Given the description of an element on the screen output the (x, y) to click on. 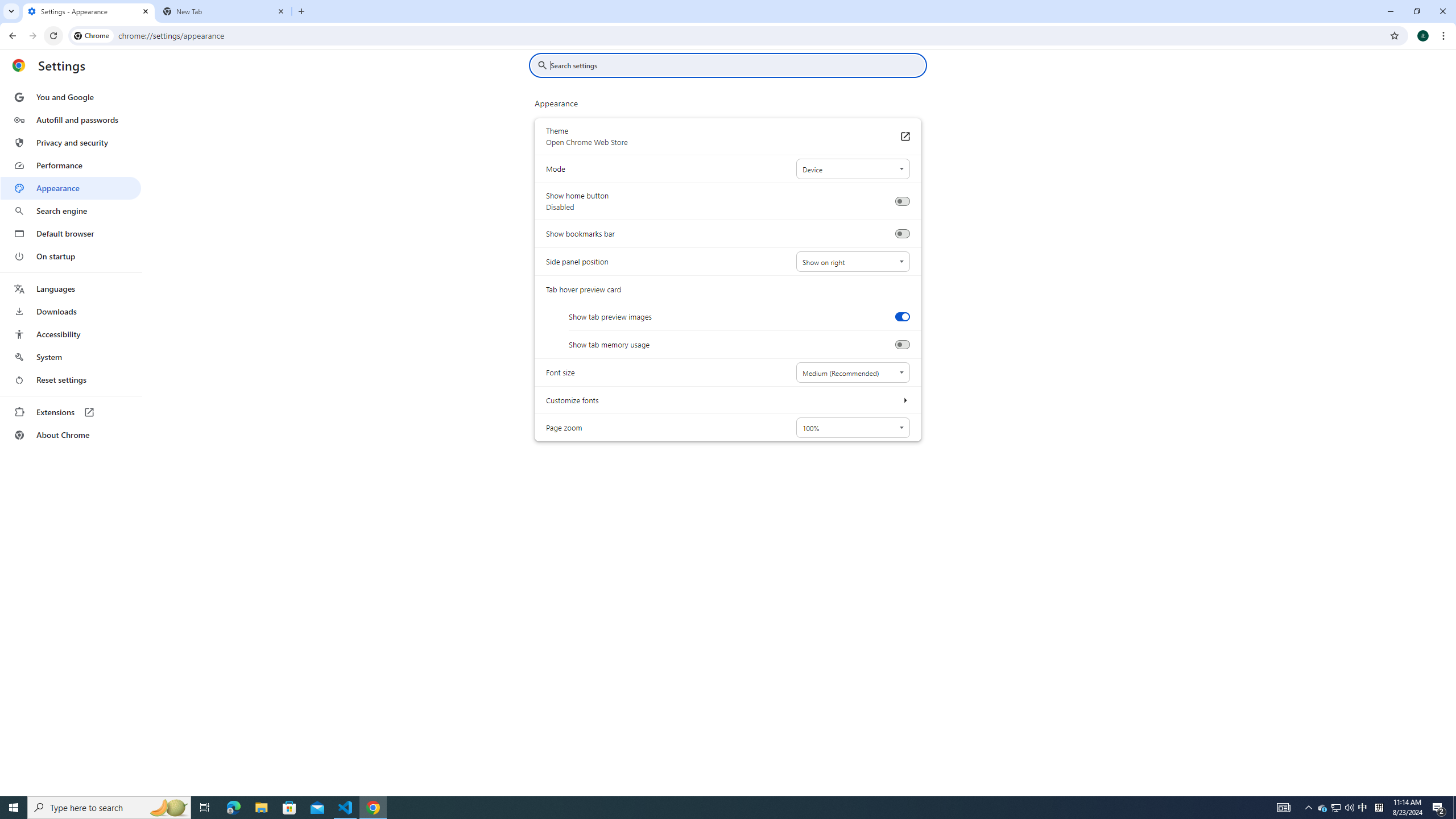
Search engine (70, 210)
Theme Open Chrome Web Store (904, 136)
About Chrome (70, 434)
Performance (70, 164)
Downloads (70, 311)
Reset settings (70, 379)
Search settings (735, 65)
Show bookmarks bar (901, 234)
Customize fonts (904, 399)
Extensions (70, 412)
Accessibility (70, 333)
Page zoom (852, 427)
